Given the description of an element on the screen output the (x, y) to click on. 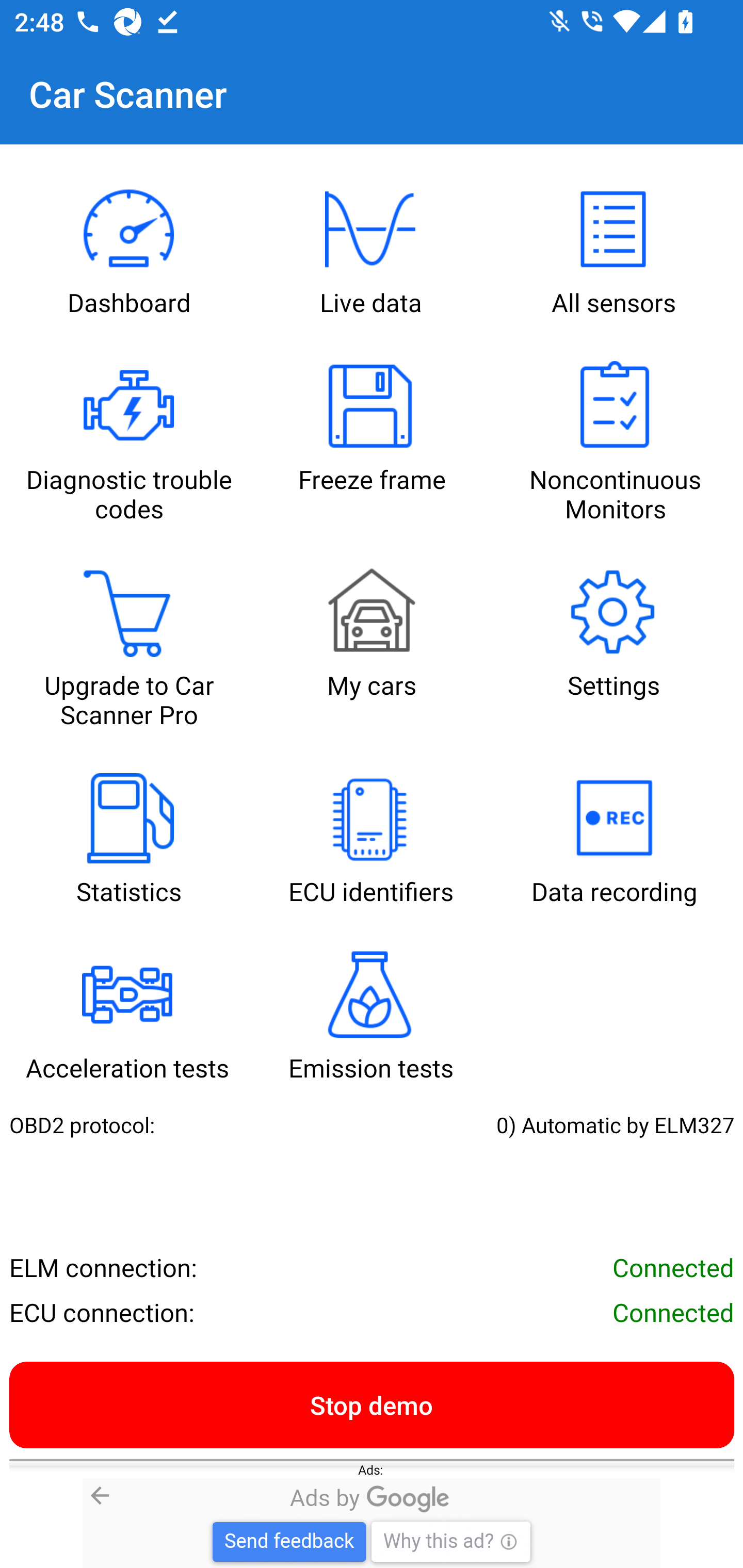
Stop demo (371, 1404)
